Given the description of an element on the screen output the (x, y) to click on. 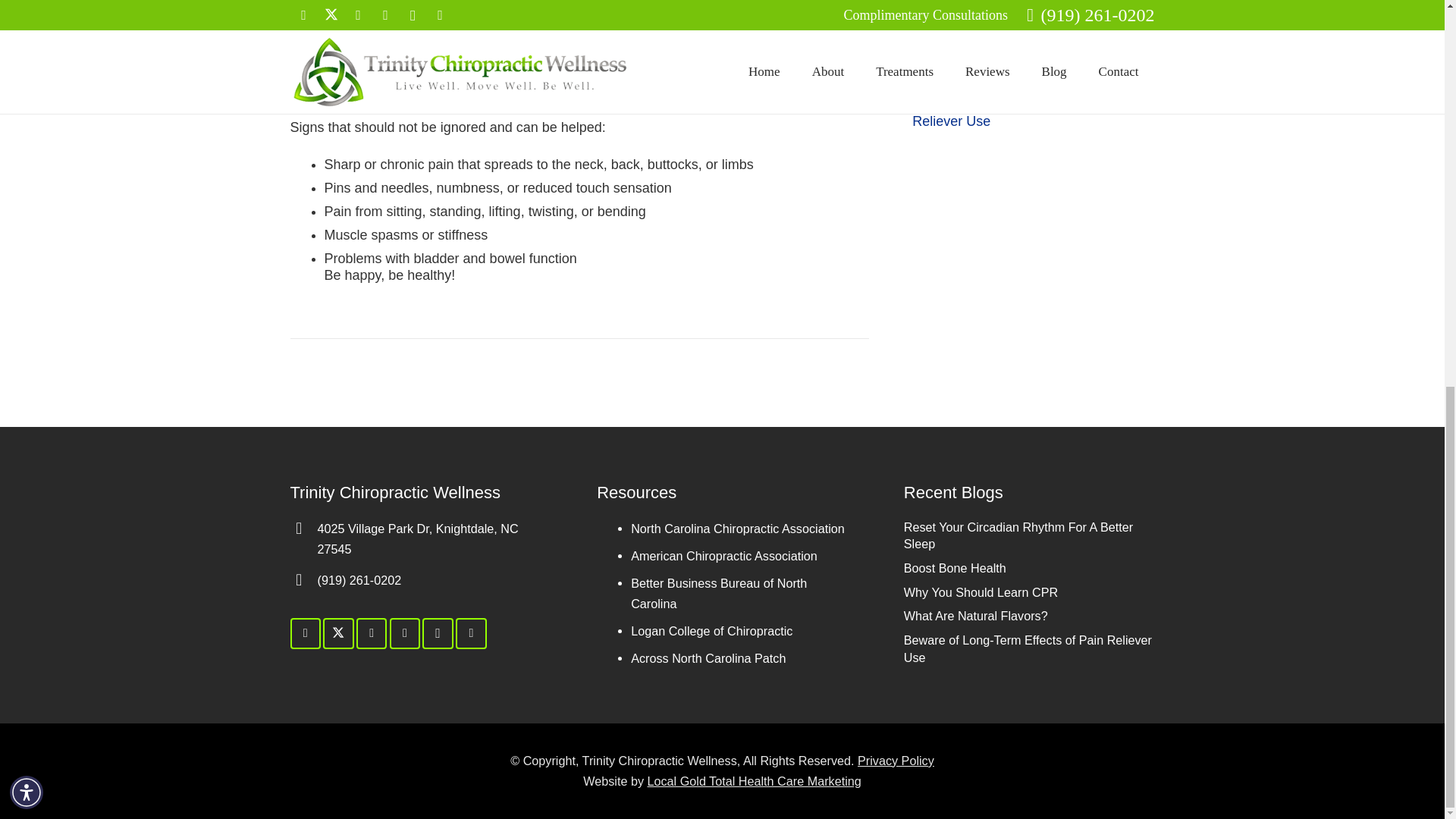
Accessibility Menu (26, 61)
Facebook (304, 633)
Boost Bone Health (969, 23)
American Chiropractic Association (576, 65)
Reset Your Circadian Rhythm For A Better Sleep (1019, 2)
